Given the description of an element on the screen output the (x, y) to click on. 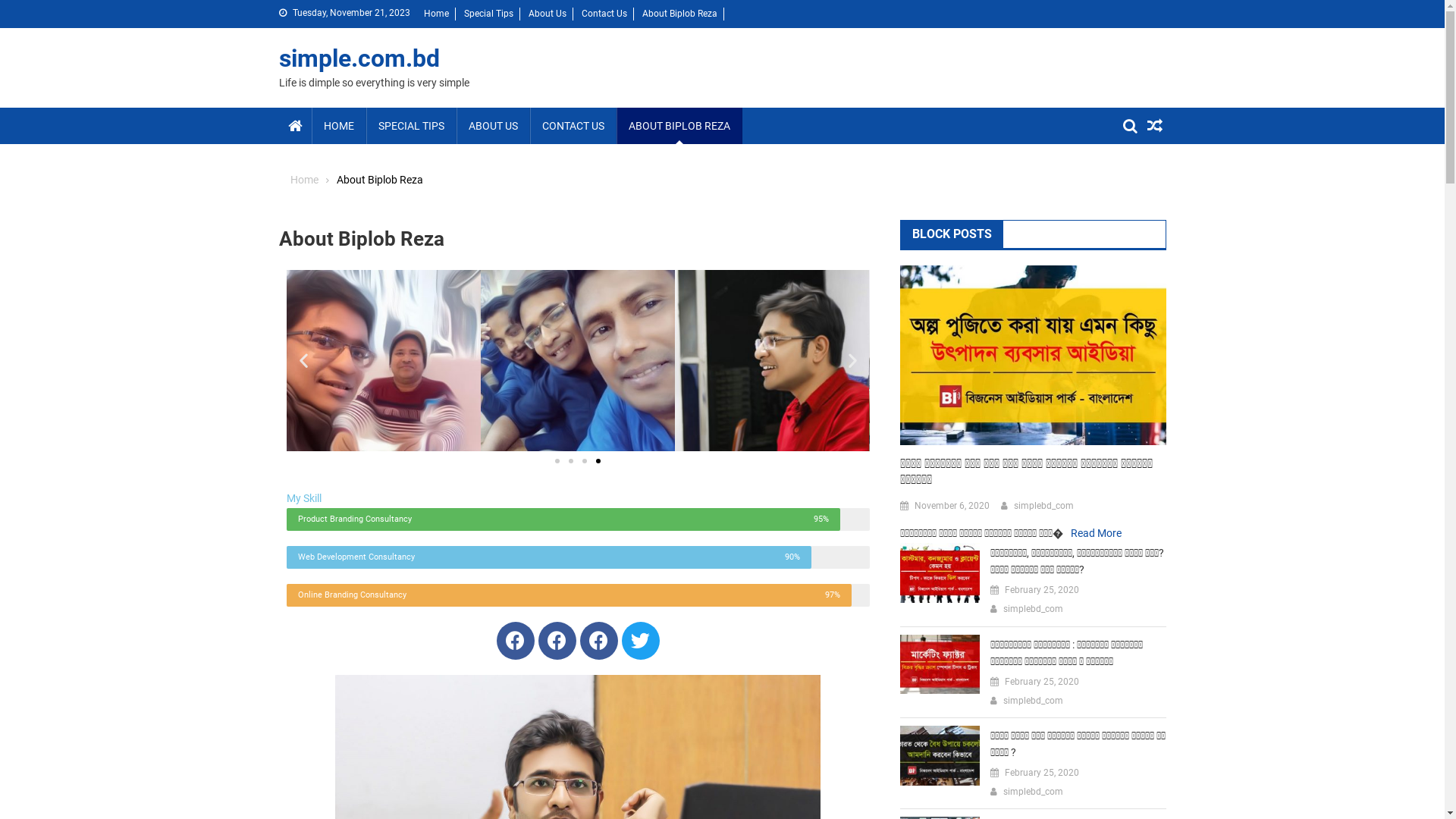
February 25, 2020 Element type: text (1041, 682)
Home Element type: text (435, 13)
Search Element type: text (1133, 180)
Read More Element type: text (1095, 533)
simplebd_com Element type: text (1033, 609)
simplebd_com Element type: text (1043, 506)
simple.com.bd Element type: text (359, 57)
About Biplob Reza Element type: text (678, 13)
November 6, 2020 Element type: text (951, 506)
CONTACT US Element type: text (572, 125)
February 25, 2020 Element type: text (1041, 773)
Home Element type: text (303, 179)
Special Tips Element type: text (488, 13)
simplebd_com Element type: text (1033, 701)
Contact Us Element type: text (603, 13)
SPECIAL TIPS Element type: text (410, 125)
About Us Element type: text (546, 13)
HOME Element type: text (337, 125)
simplebd_com Element type: text (1033, 792)
ABOUT US Element type: text (493, 125)
ABOUT BIPLOB REZA Element type: text (678, 125)
February 25, 2020 Element type: text (1041, 590)
